Given the description of an element on the screen output the (x, y) to click on. 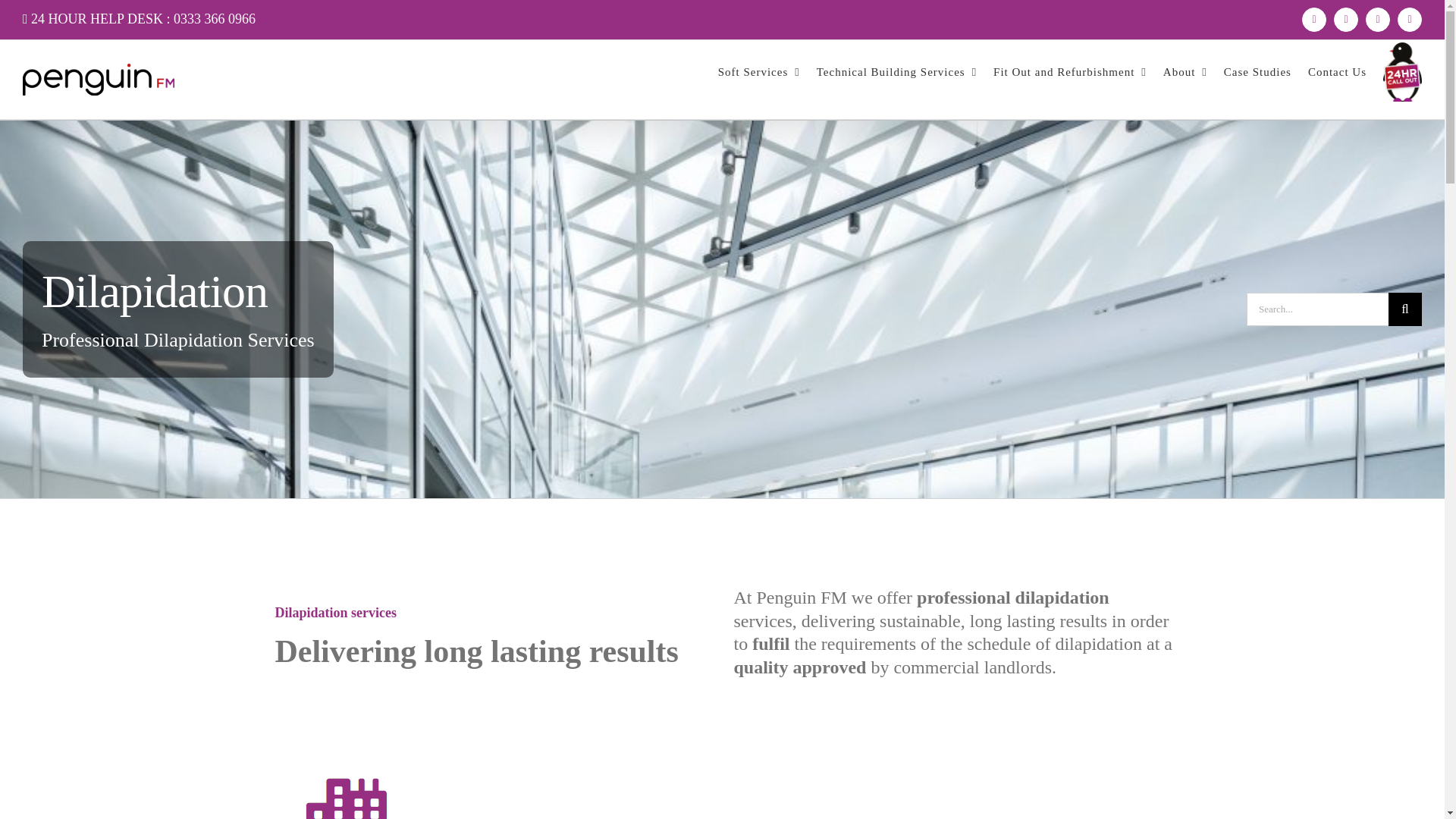
YouTube (1345, 19)
Technical Building Services (896, 72)
Facebook (1313, 19)
Soft Services (758, 72)
Fit Out and Refurbishment (1069, 72)
Instagram (1377, 19)
LinkedIn (1409, 19)
Case Studies (1257, 72)
Contact Us (1337, 72)
